Given the description of an element on the screen output the (x, y) to click on. 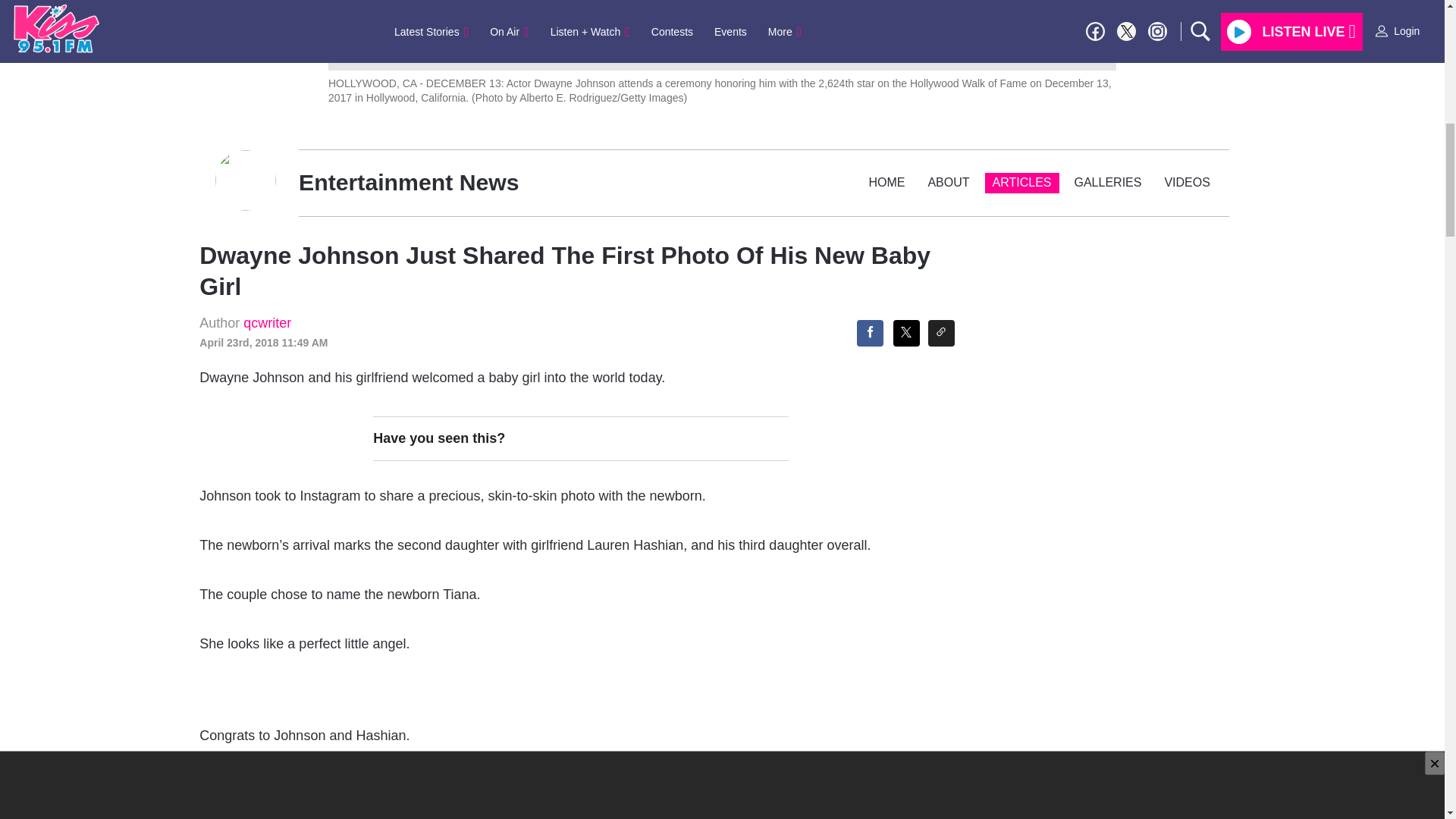
qcwriter (267, 322)
